Given the description of an element on the screen output the (x, y) to click on. 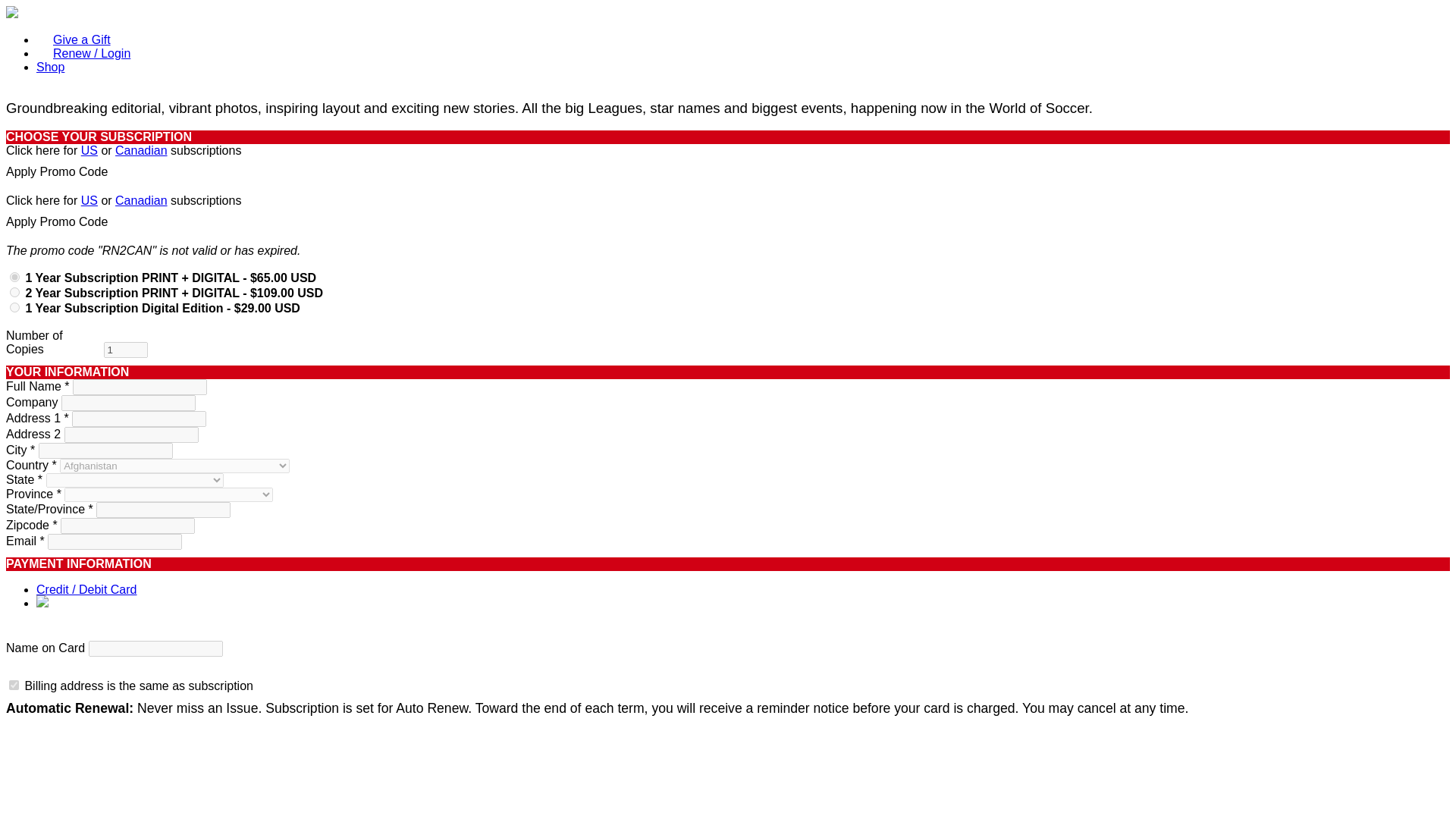
US (89, 200)
Apply Promo Code (56, 221)
Canadian (141, 200)
US (89, 150)
Canadian (141, 150)
Give a Gift (73, 35)
2768 (15, 292)
Apply Promo Code (56, 171)
Shop (50, 66)
on (13, 685)
2767 (15, 276)
4210 (15, 307)
1 (125, 349)
